Given the description of an element on the screen output the (x, y) to click on. 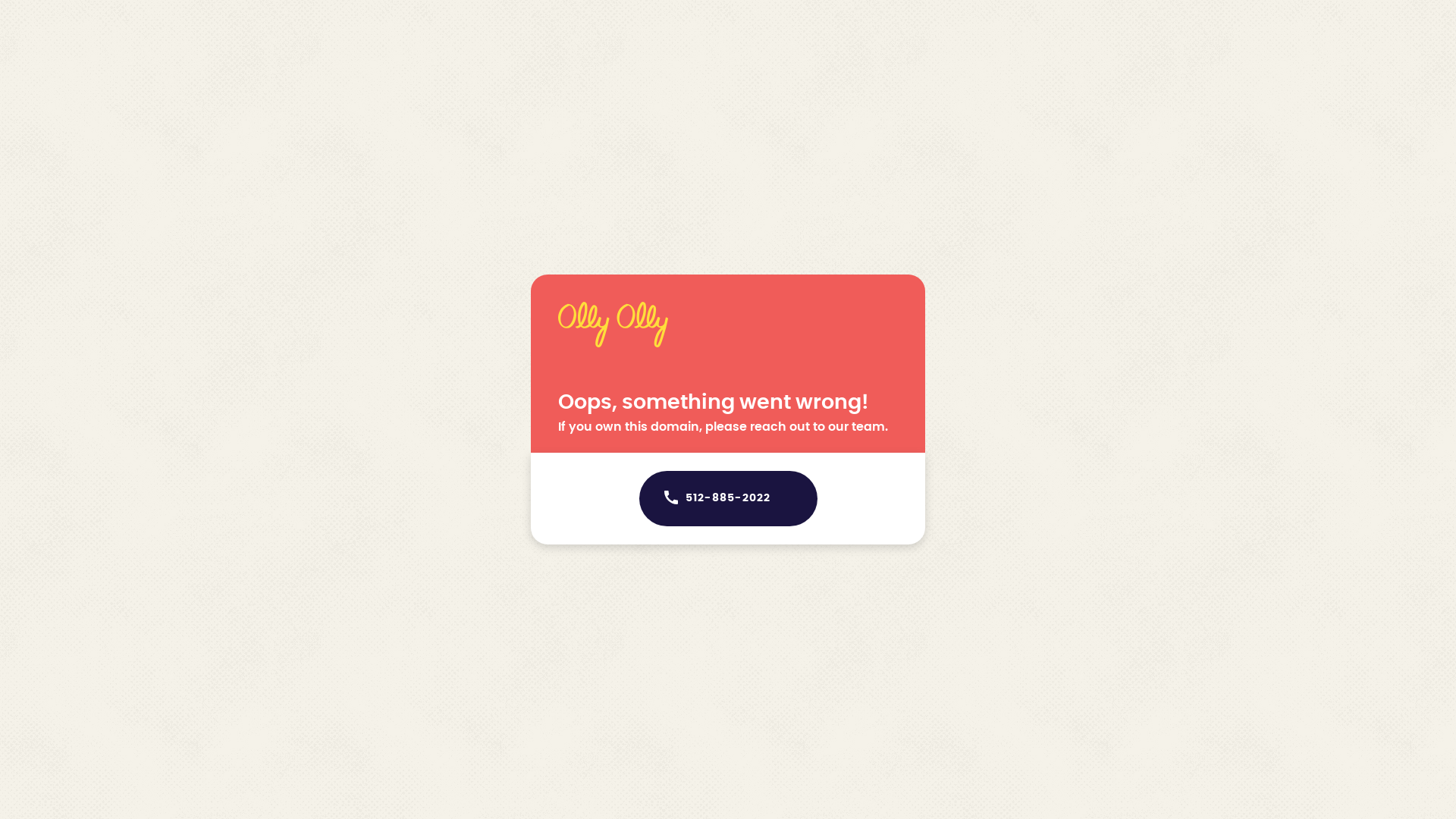
512-885-2022 Element type: text (727, 498)
512-885-2022 Element type: text (727, 498)
